Given the description of an element on the screen output the (x, y) to click on. 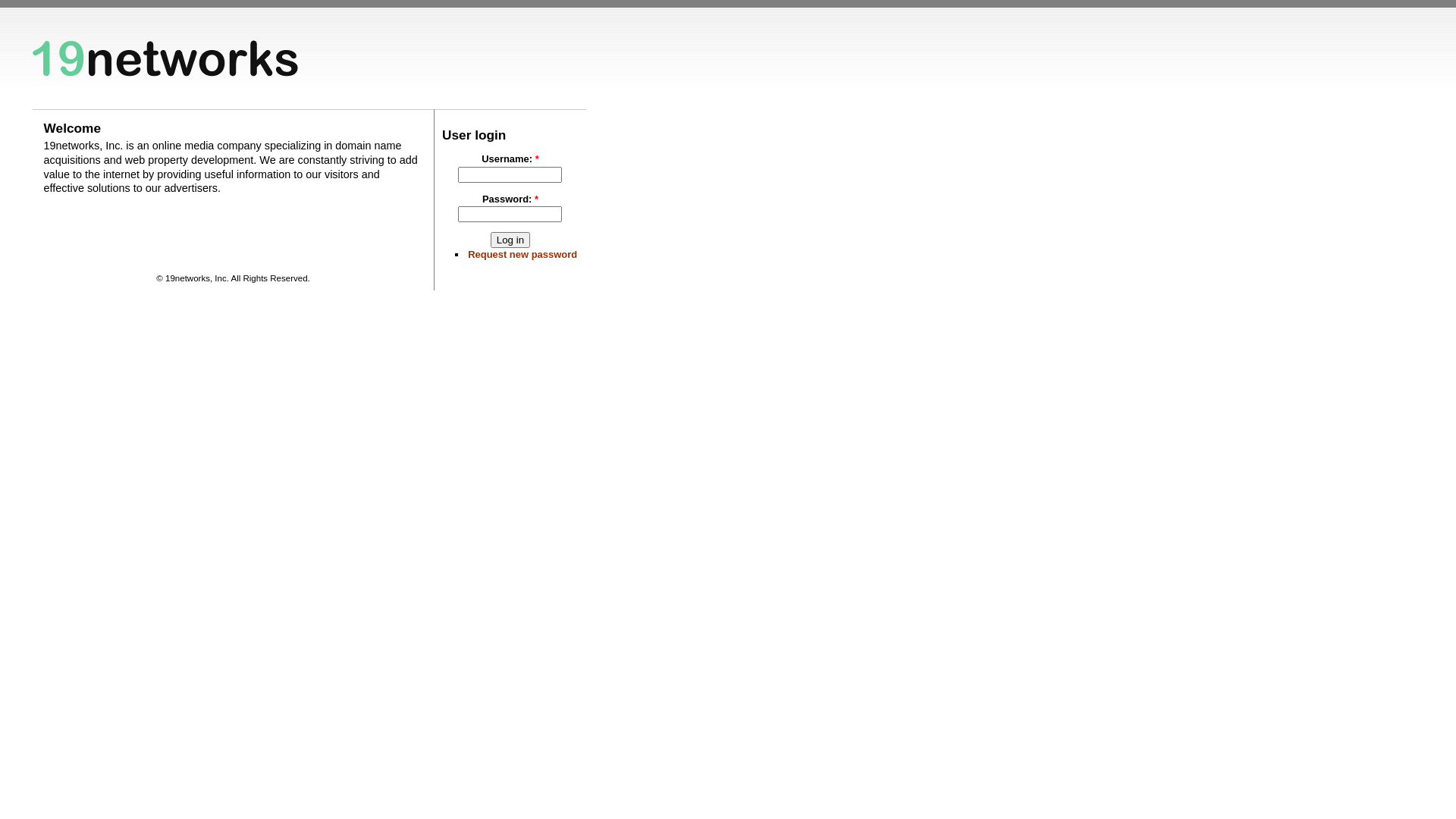
Log in Element type: text (510, 239)
Request new password Element type: text (522, 254)
